Given the description of an element on the screen output the (x, y) to click on. 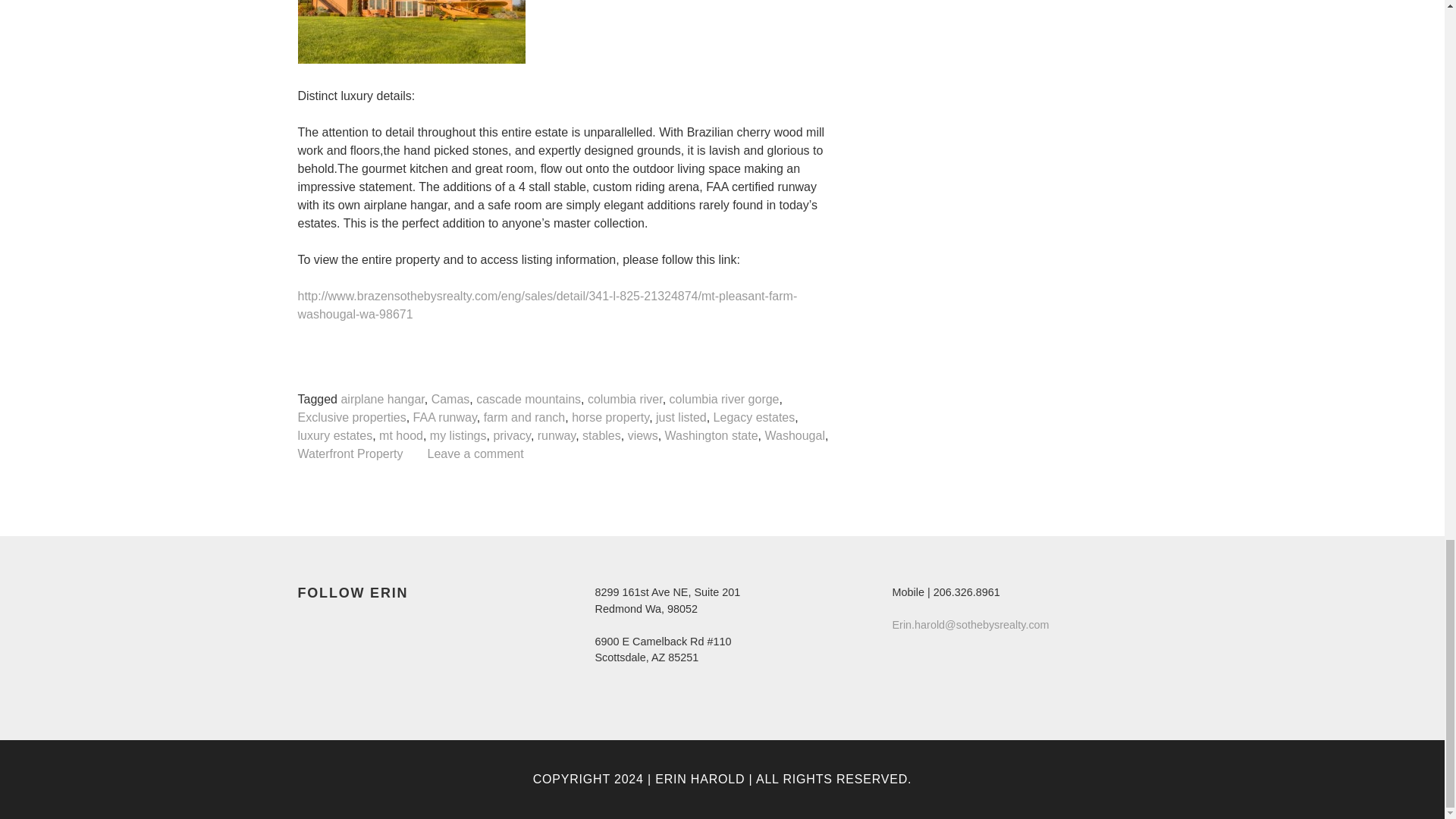
mt hood (400, 436)
columbia river gorge (723, 400)
stables (601, 436)
farm and ranch (524, 418)
Washington state (711, 436)
my listings (457, 436)
cascade mountains (528, 400)
just listed (681, 418)
FAA runway (445, 418)
horse property (610, 418)
